Given the description of an element on the screen output the (x, y) to click on. 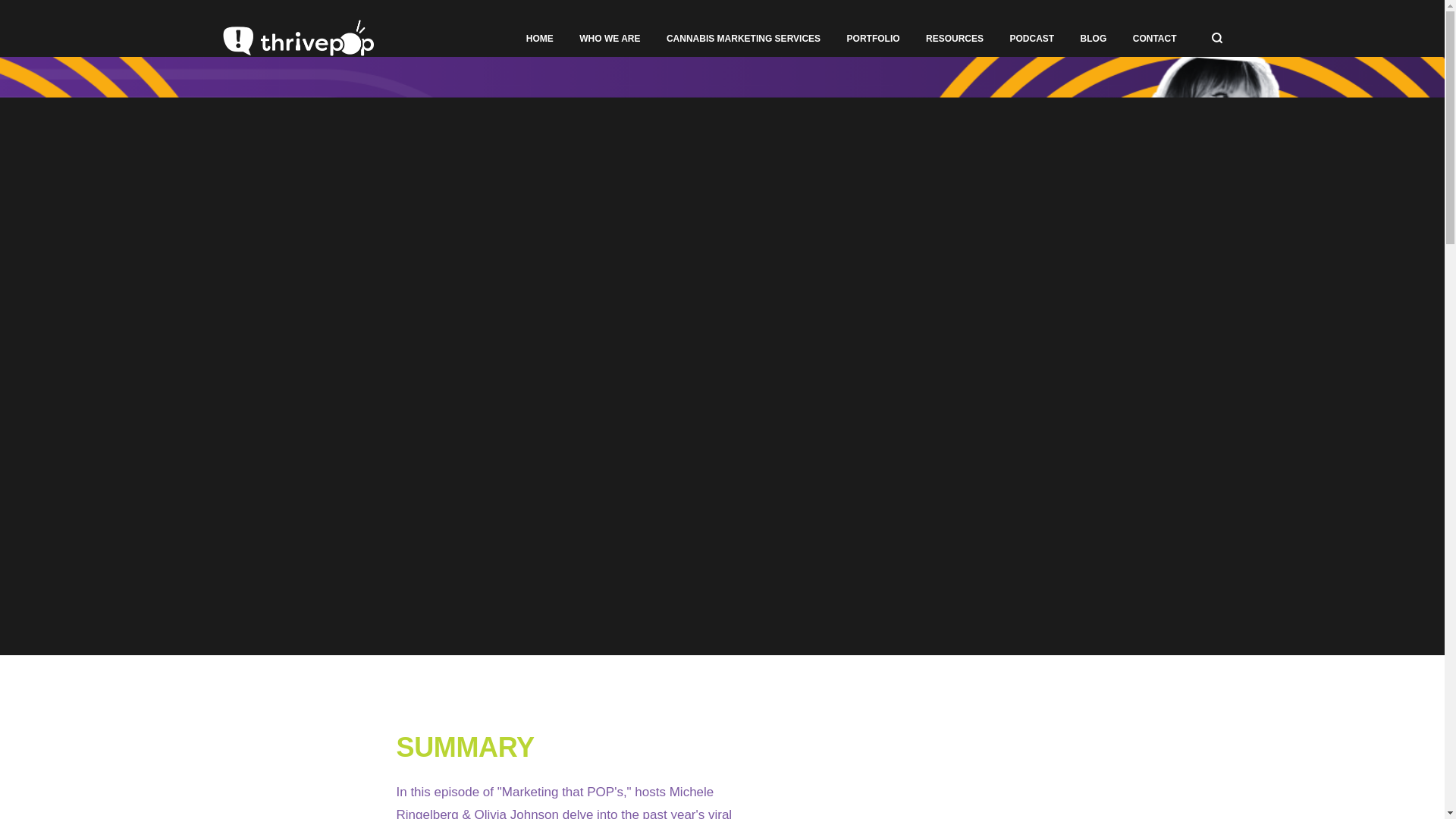
BLOG (1093, 38)
WHO WE ARE (609, 38)
PORTFOLIO (873, 38)
ThrivePOP Logo White (296, 37)
PODCAST (1031, 38)
RESOURCES (955, 38)
HOME (539, 38)
CONTACT (1154, 38)
CANNABIS MARKETING SERVICES (743, 38)
